Given the description of an element on the screen output the (x, y) to click on. 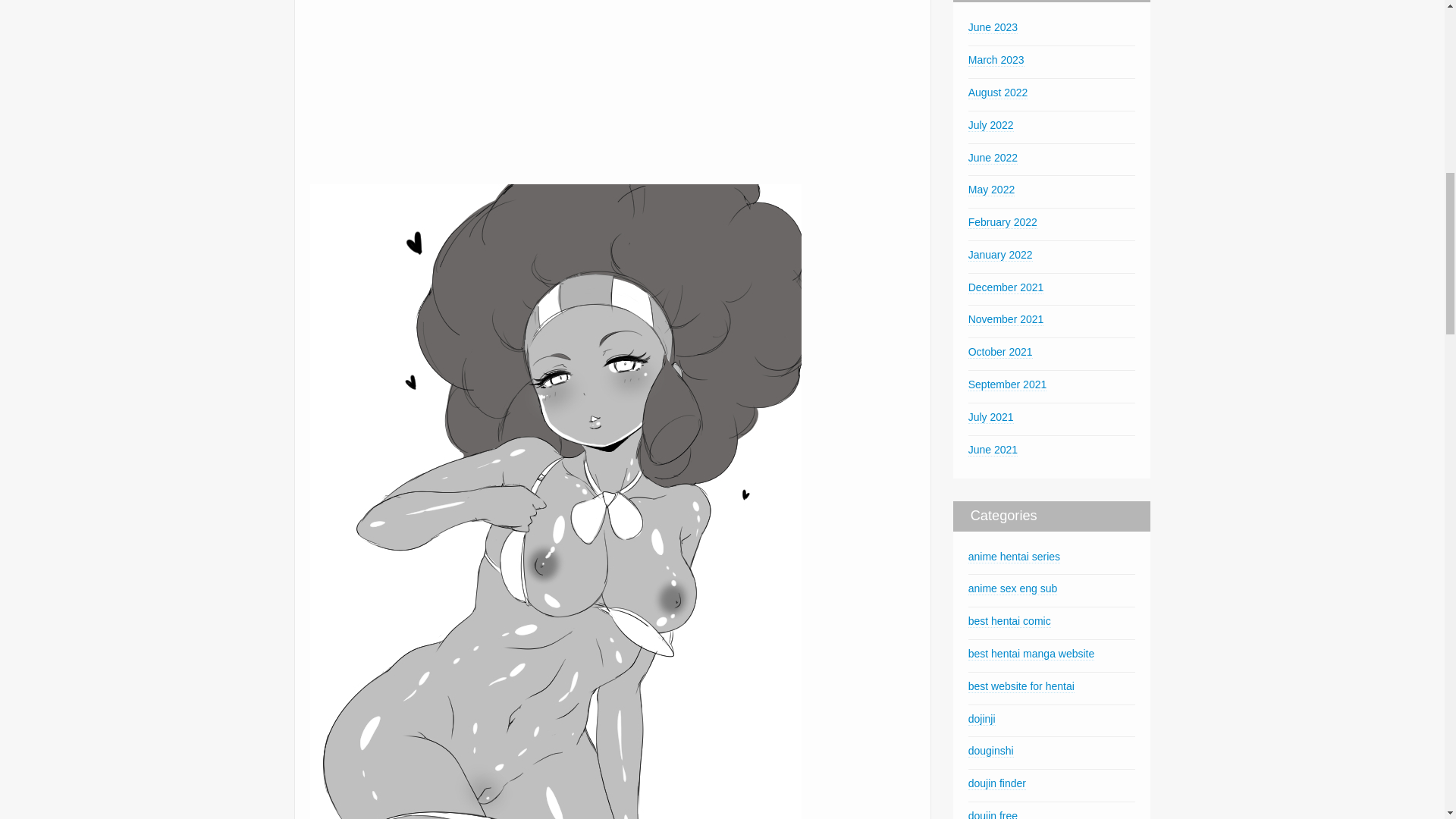
June 2023 (992, 27)
July 2021 (990, 417)
December 2021 (1005, 287)
June 2021 (992, 449)
best hentai comic (1009, 621)
March 2023 (996, 60)
February 2022 (1002, 222)
May 2022 (991, 189)
July 2022 (990, 124)
October 2021 (1000, 351)
